Given the description of an element on the screen output the (x, y) to click on. 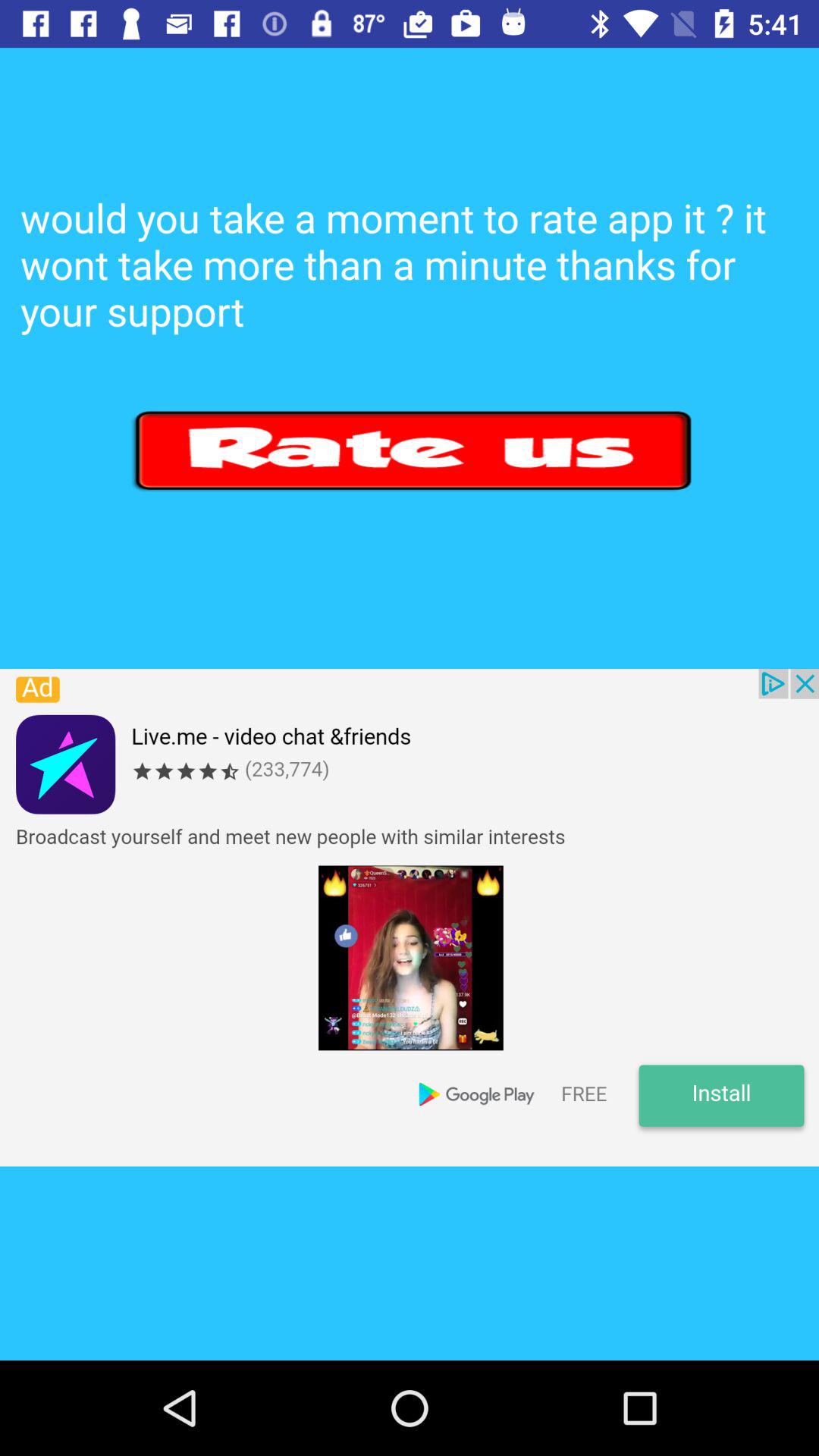
advertisement page (409, 917)
